Given the description of an element on the screen output the (x, y) to click on. 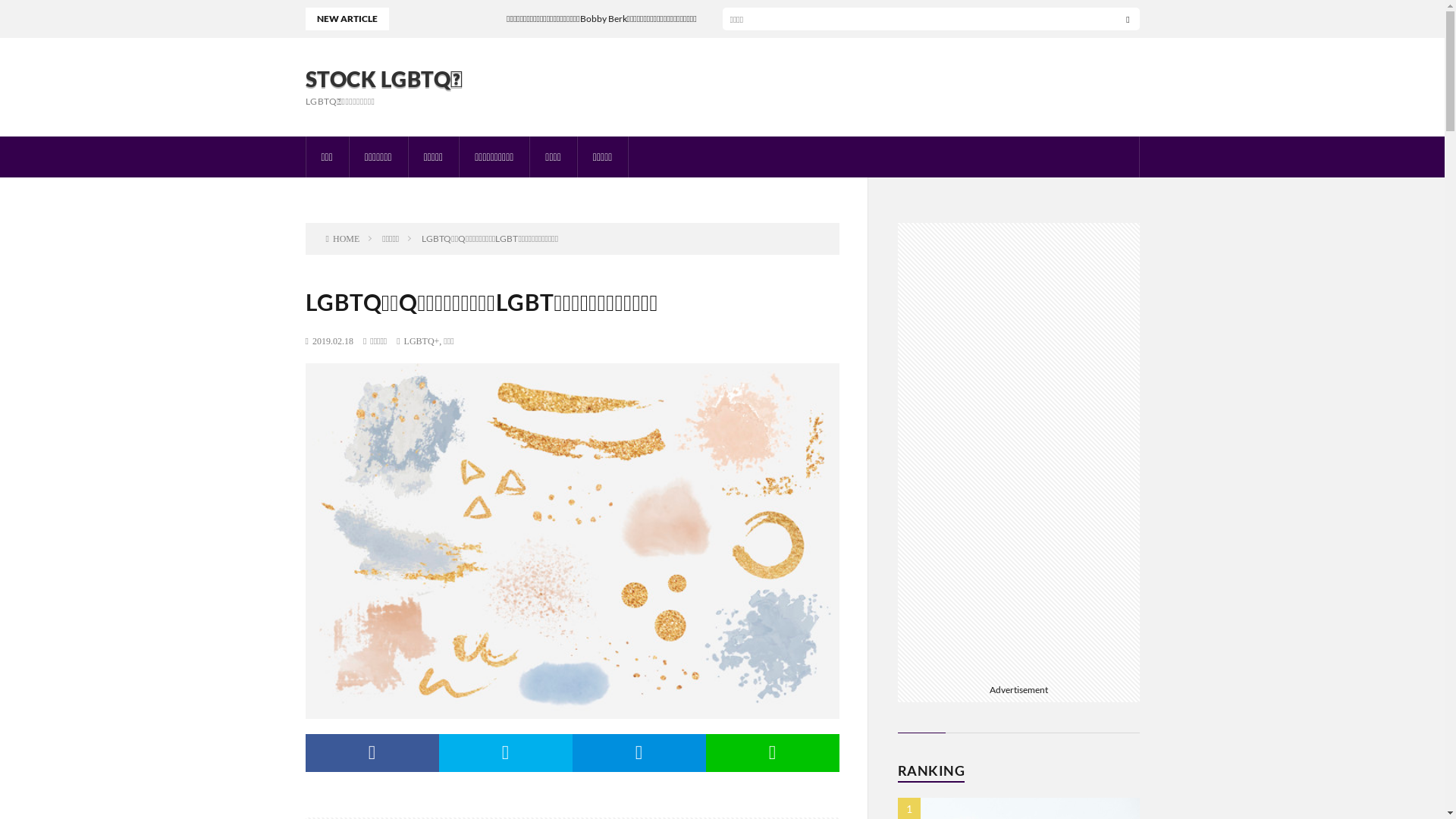
search Element type: text (1127, 18)
LGBTQ+ Element type: text (421, 340)
HOME Element type: text (343, 238)
Advertisement Element type: hover (1018, 449)
